Given the description of an element on the screen output the (x, y) to click on. 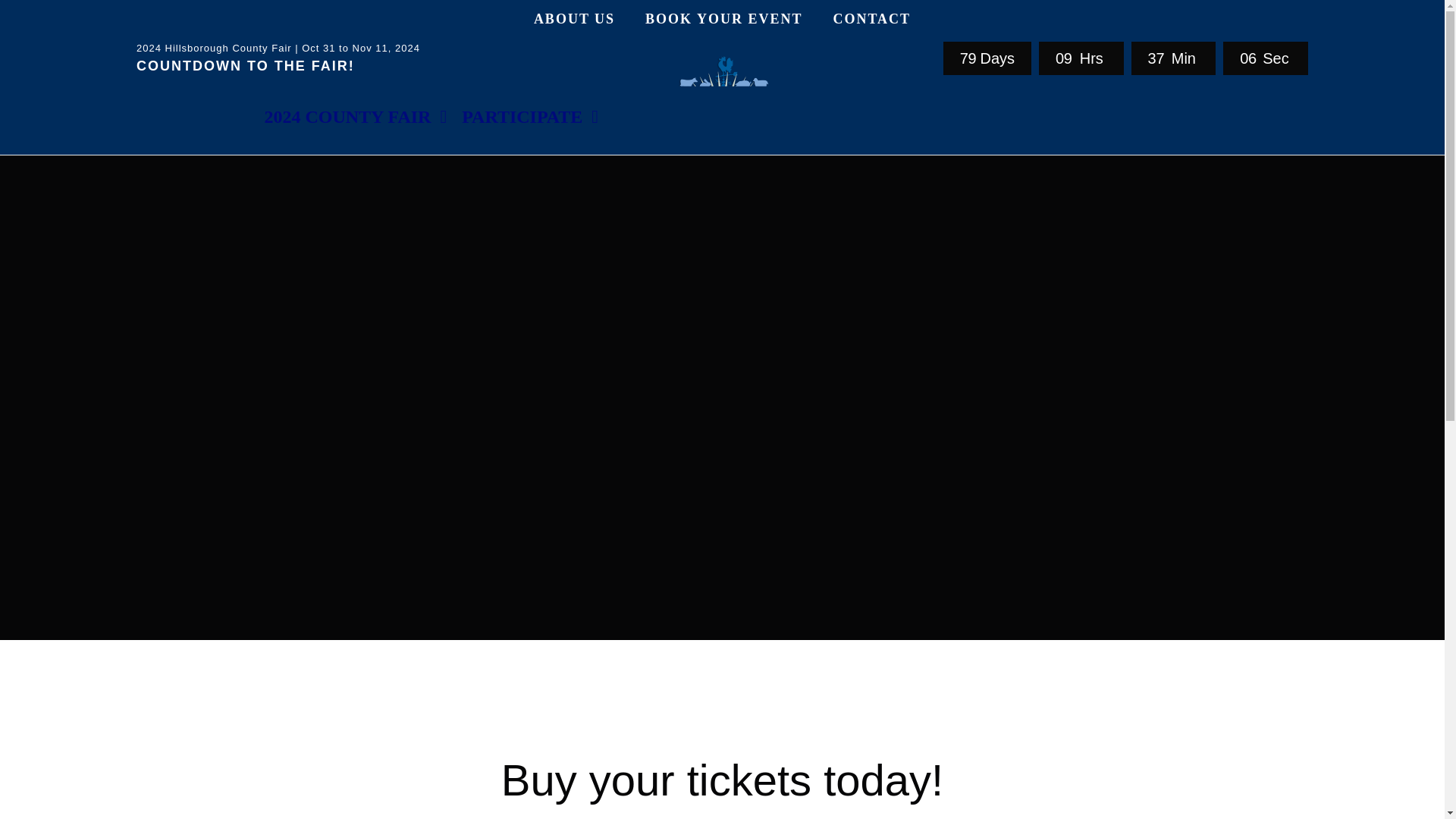
BOOK YOUR EVENT (723, 19)
ABOUT US (574, 19)
PARTICIPATE (529, 116)
CONTACT (871, 19)
2024 COUNTY FAIR (355, 116)
